Given the description of an element on the screen output the (x, y) to click on. 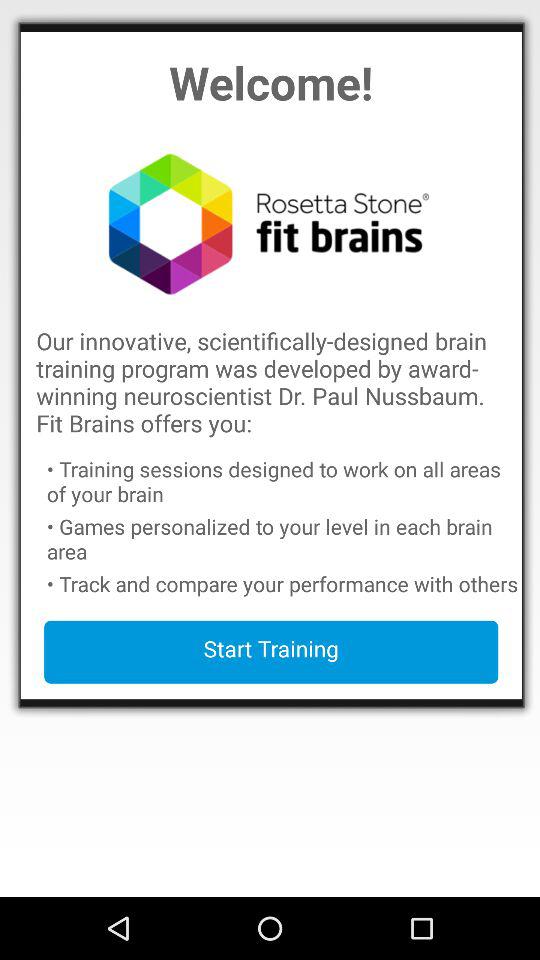
flip to start training item (271, 651)
